Given the description of an element on the screen output the (x, y) to click on. 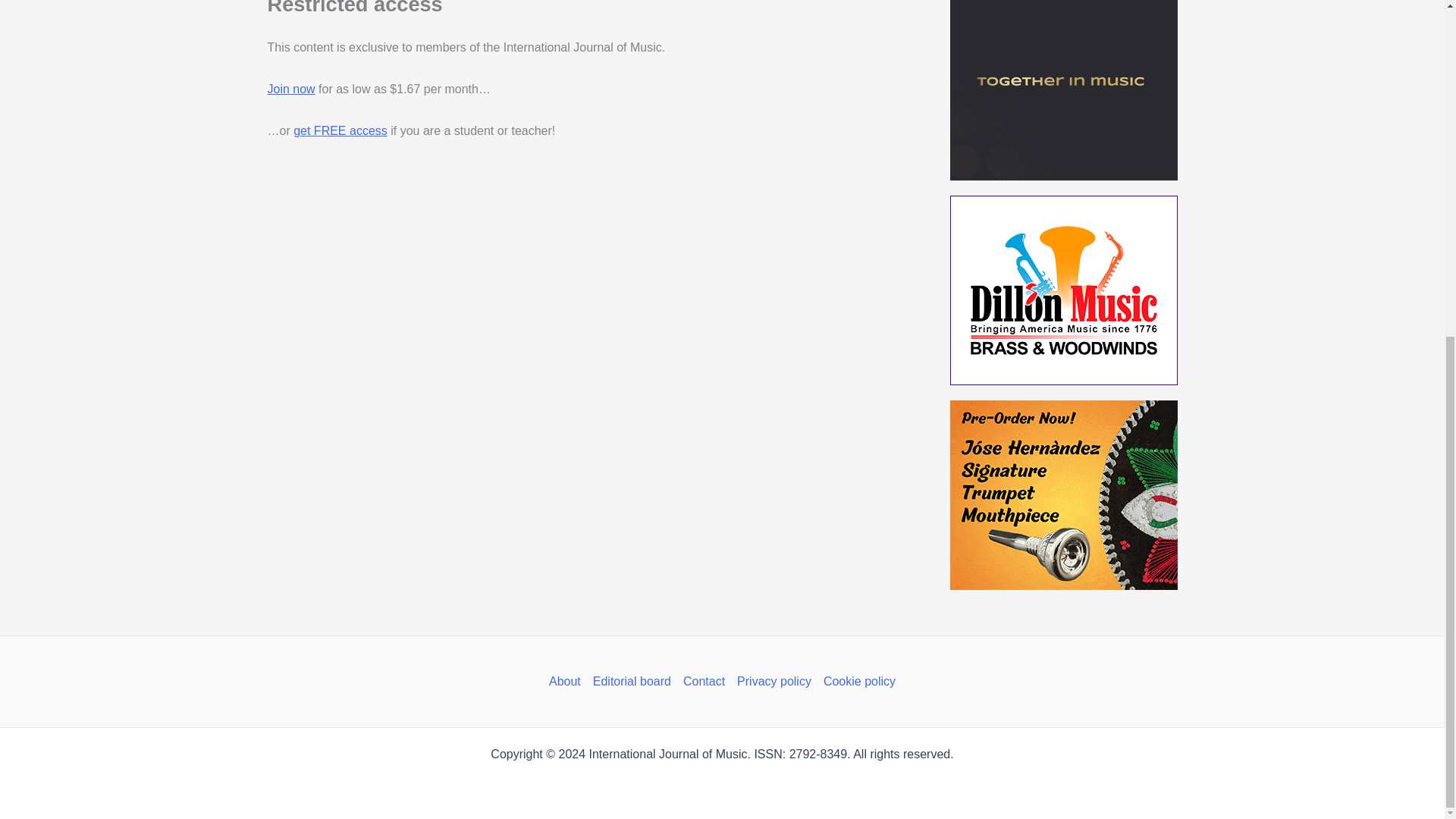
Adams-Together-in-Music (1062, 90)
Legends-Brass-Jose-Hernandez (1062, 494)
Dillon-Music-Trumpet (1062, 289)
